Given the description of an element on the screen output the (x, y) to click on. 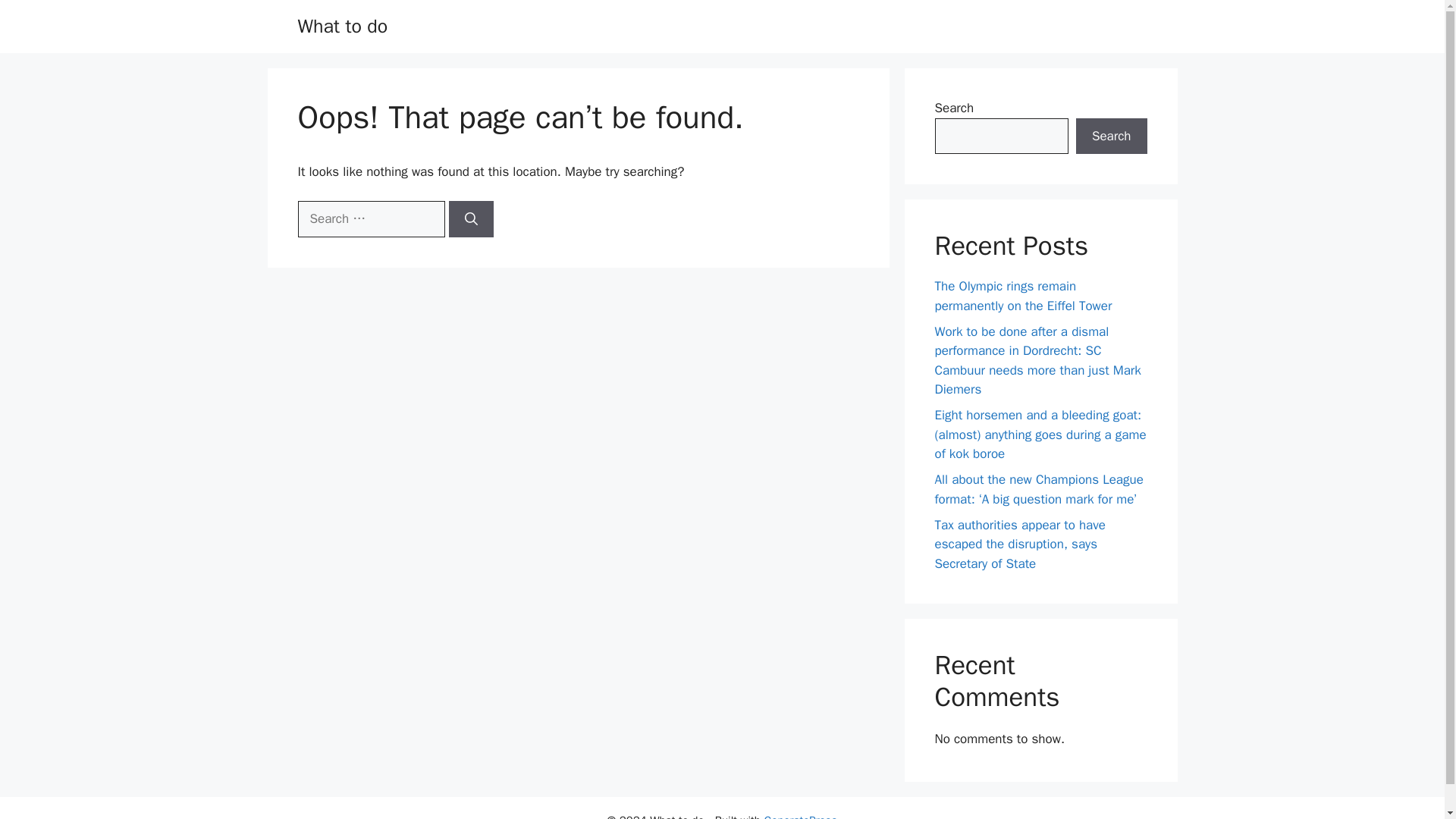
Search (1111, 135)
What to do (342, 25)
GeneratePress (799, 816)
Search for: (370, 218)
The Olympic rings remain permanently on the Eiffel Tower (1023, 295)
